Given the description of an element on the screen output the (x, y) to click on. 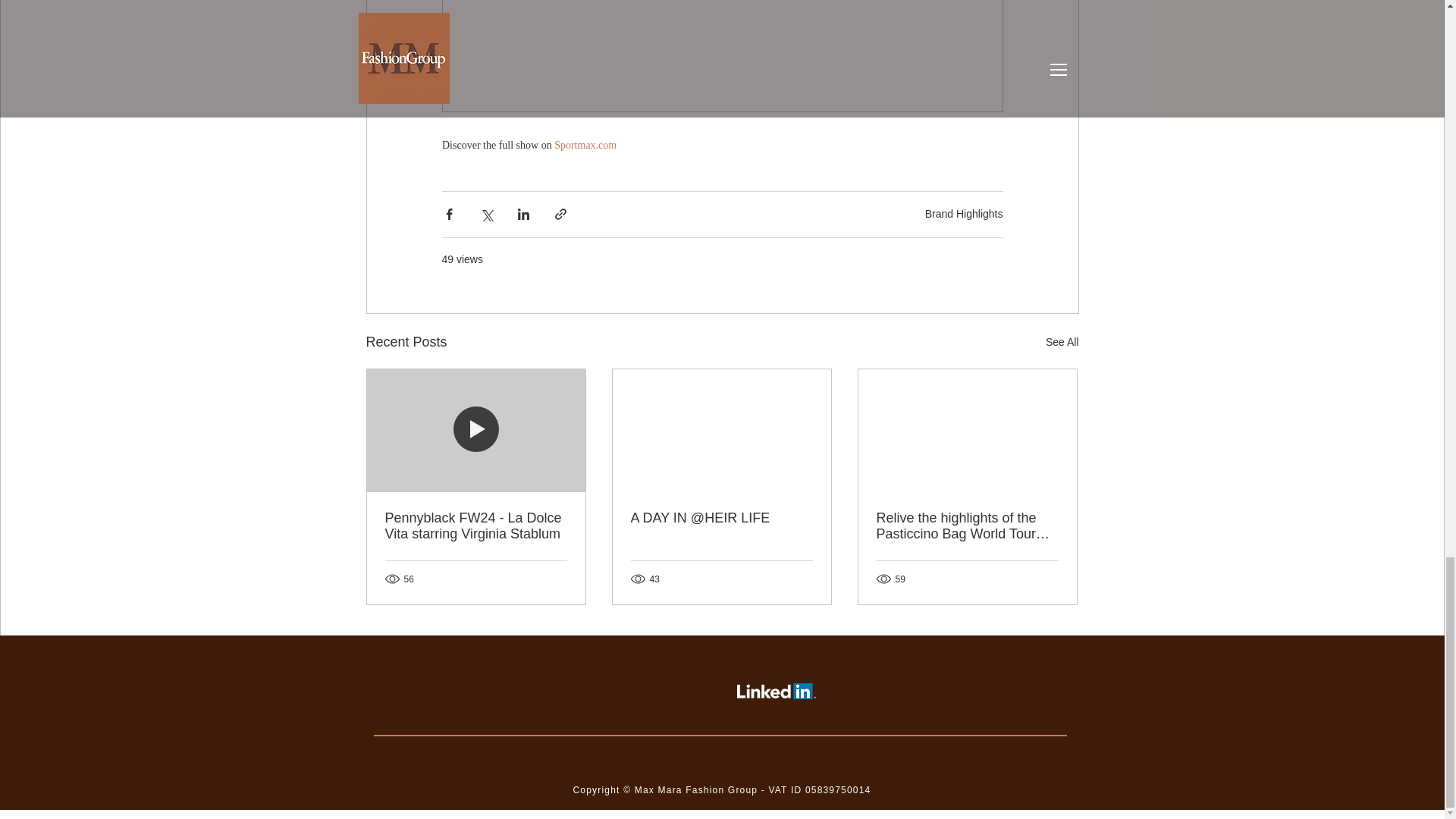
Pennyblack FW24 - La Dolce Vita starring Virginia Stablum (476, 526)
See All (1061, 341)
Sportmax.com (584, 144)
Brand Highlights (963, 214)
